Given the description of an element on the screen output the (x, y) to click on. 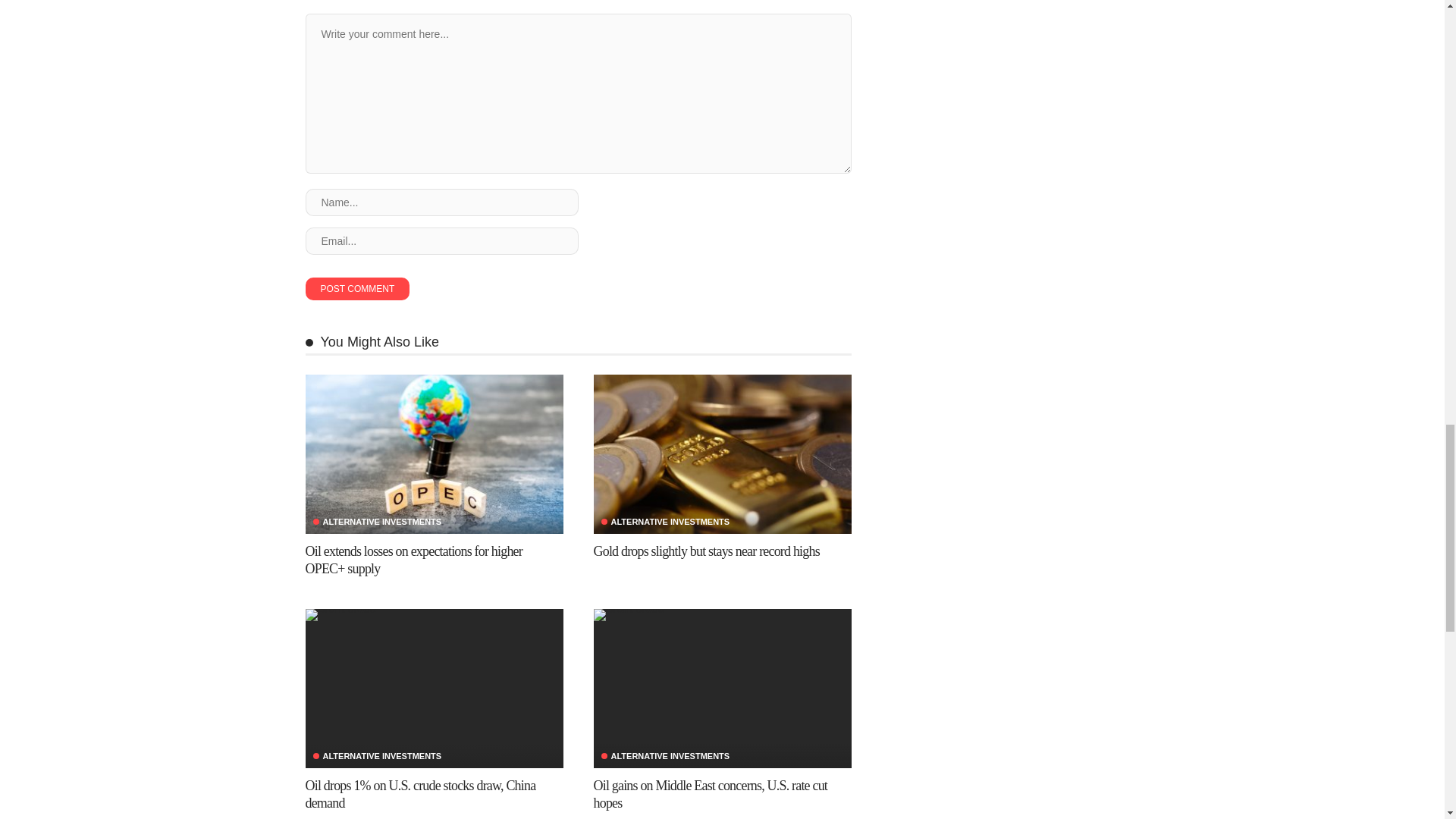
Post Comment (356, 288)
Post Comment (356, 288)
ALTERNATIVE INVESTMENTS (377, 521)
